Given the description of an element on the screen output the (x, y) to click on. 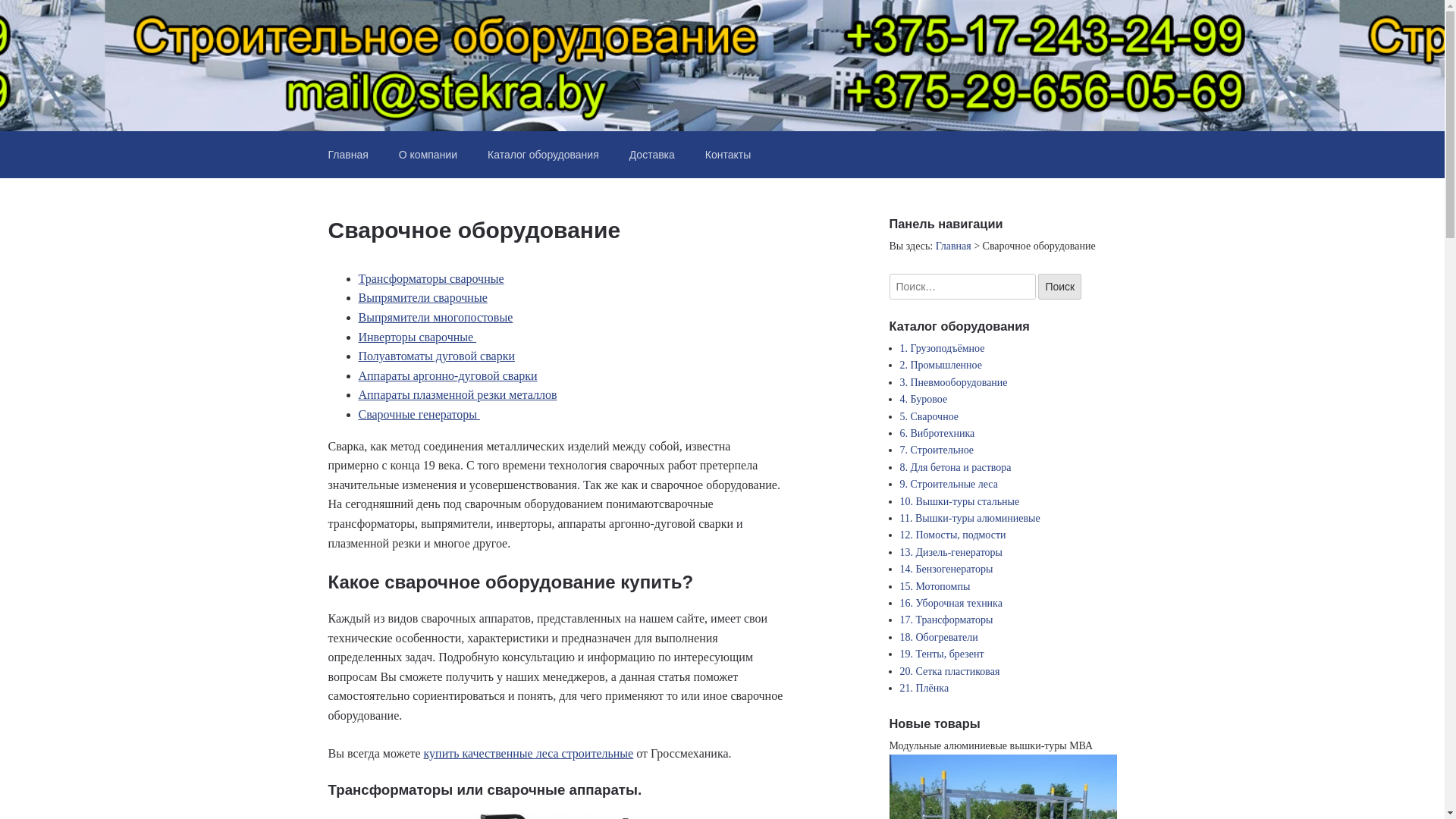
STEKRA.by Element type: text (408, 55)
